Given the description of an element on the screen output the (x, y) to click on. 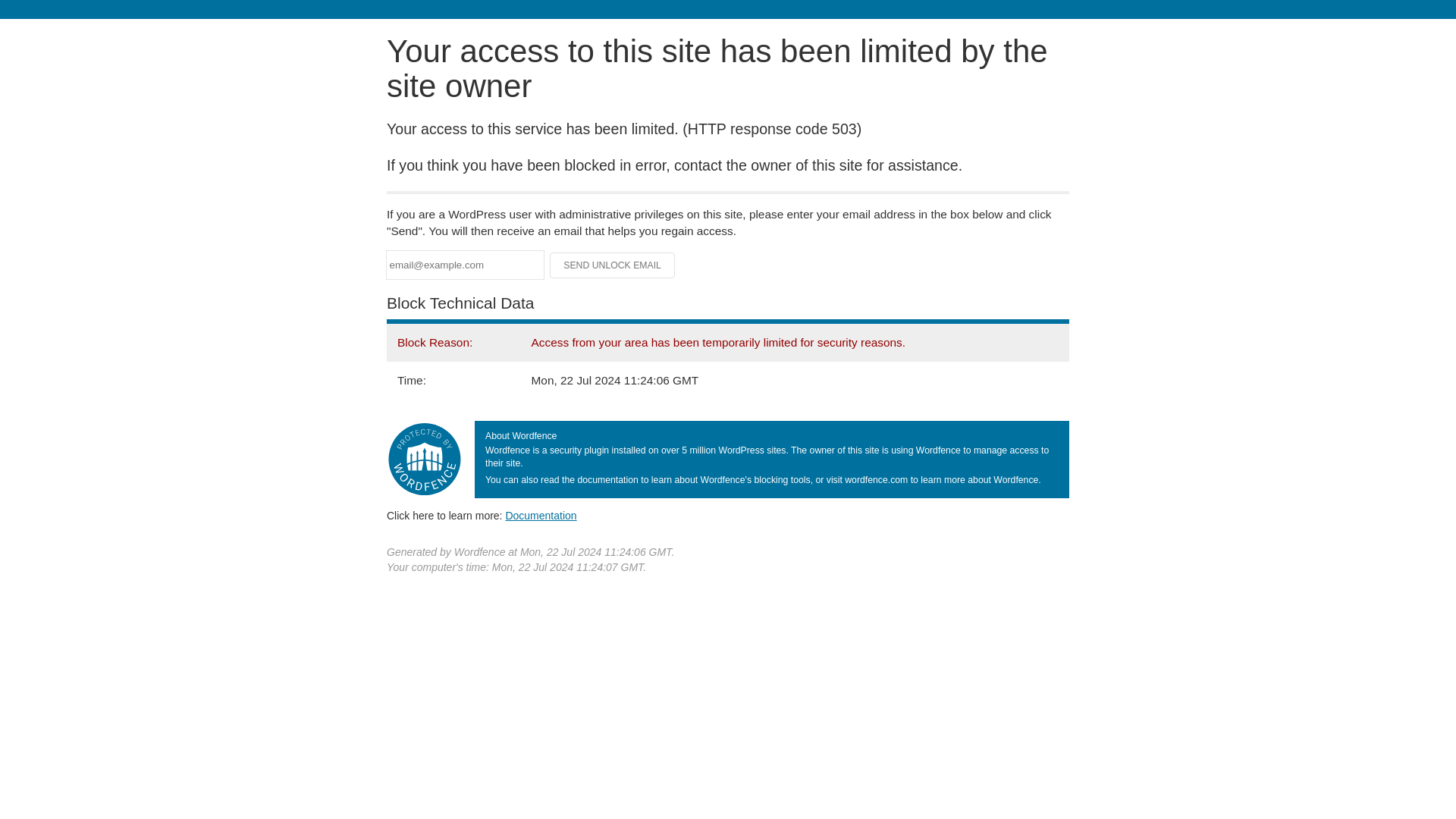
Documentation (540, 515)
Send Unlock Email (612, 265)
Send Unlock Email (612, 265)
